Given the description of an element on the screen output the (x, y) to click on. 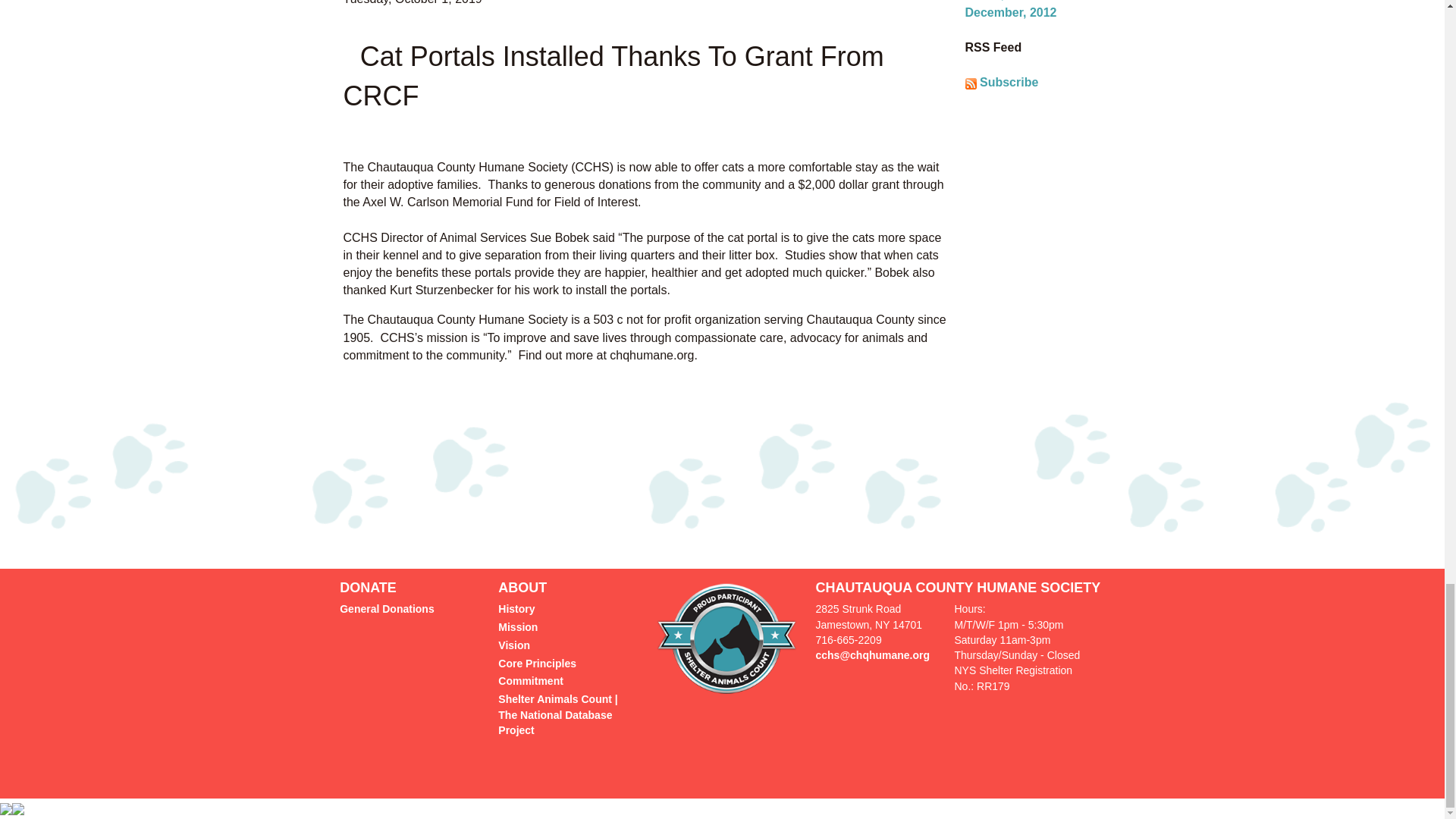
Opens in new window (557, 714)
Opens in new window (726, 637)
